Given the description of an element on the screen output the (x, y) to click on. 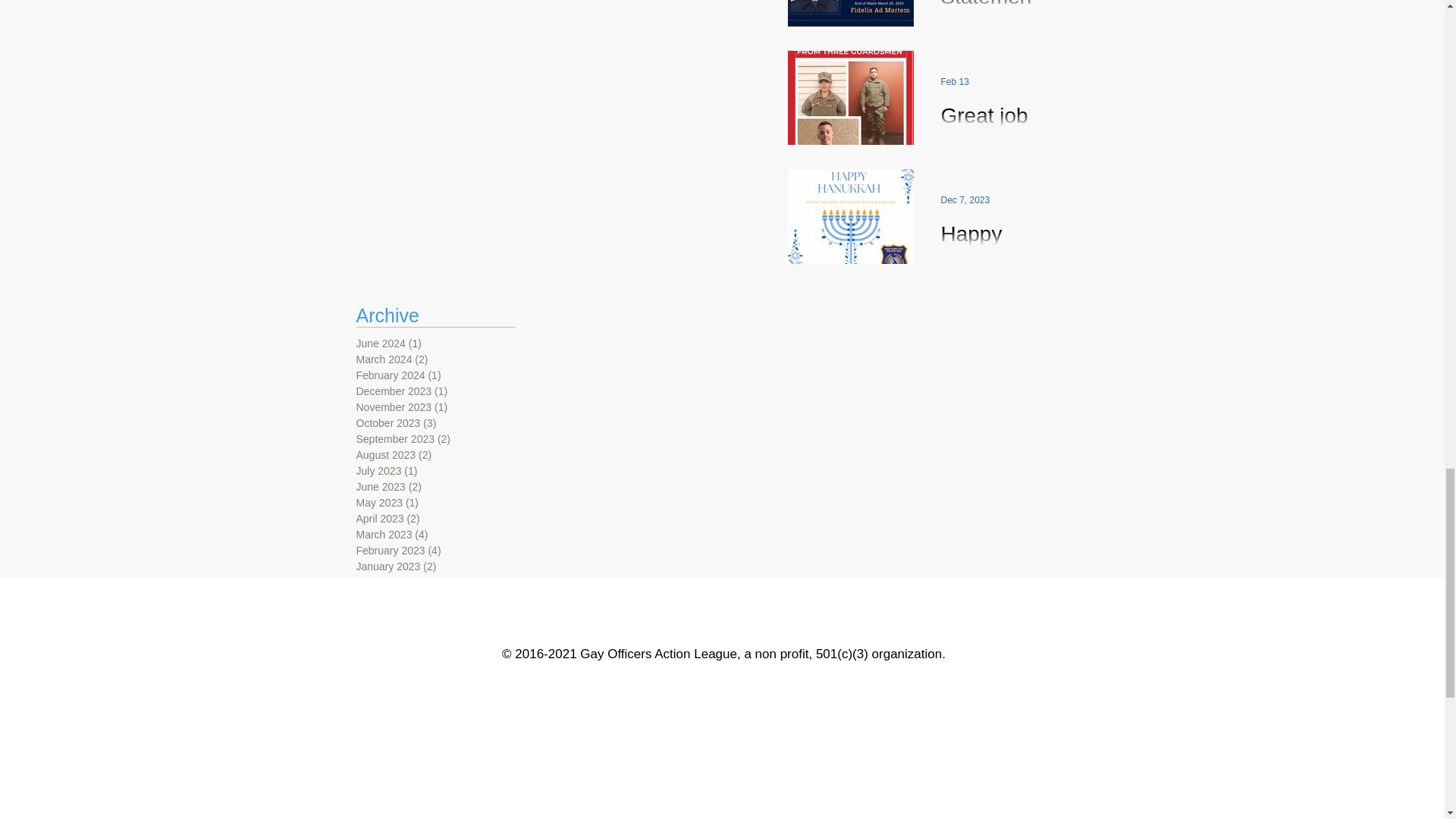
Dec 7, 2023 (965, 199)
Happy Hanukkah (987, 262)
Feb 13 (954, 81)
Great job to E-Board Member Rick Miller!! (987, 144)
